Given the description of an element on the screen output the (x, y) to click on. 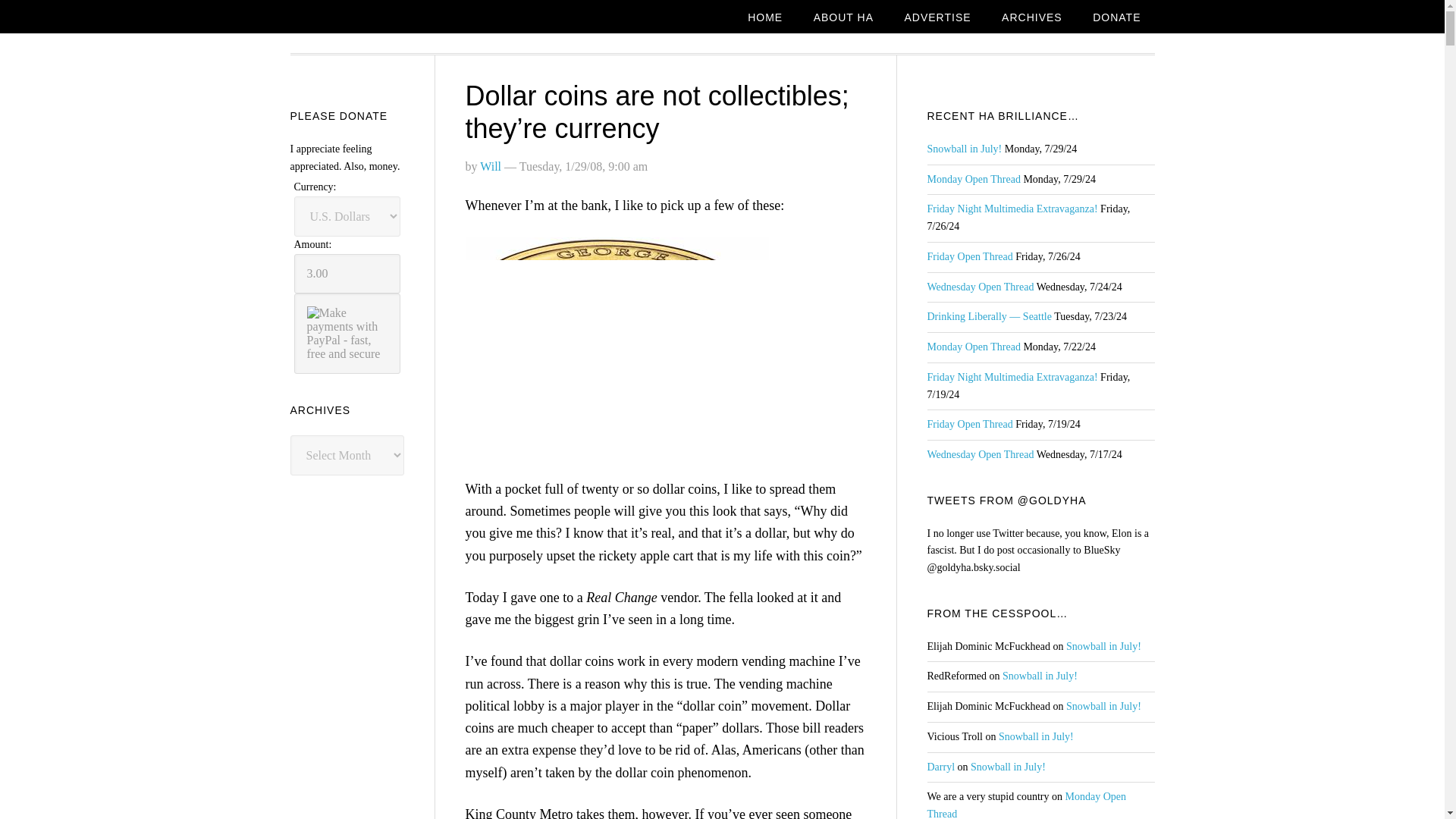
Will (490, 165)
HOME (764, 17)
The amount you wish to donate (347, 273)
HORSESASS.ORG (410, 19)
ARCHIVES (1031, 17)
DONATE (1116, 17)
3.00 (347, 273)
ABOUT HA (842, 17)
ADVERTISE (936, 17)
